Given the description of an element on the screen output the (x, y) to click on. 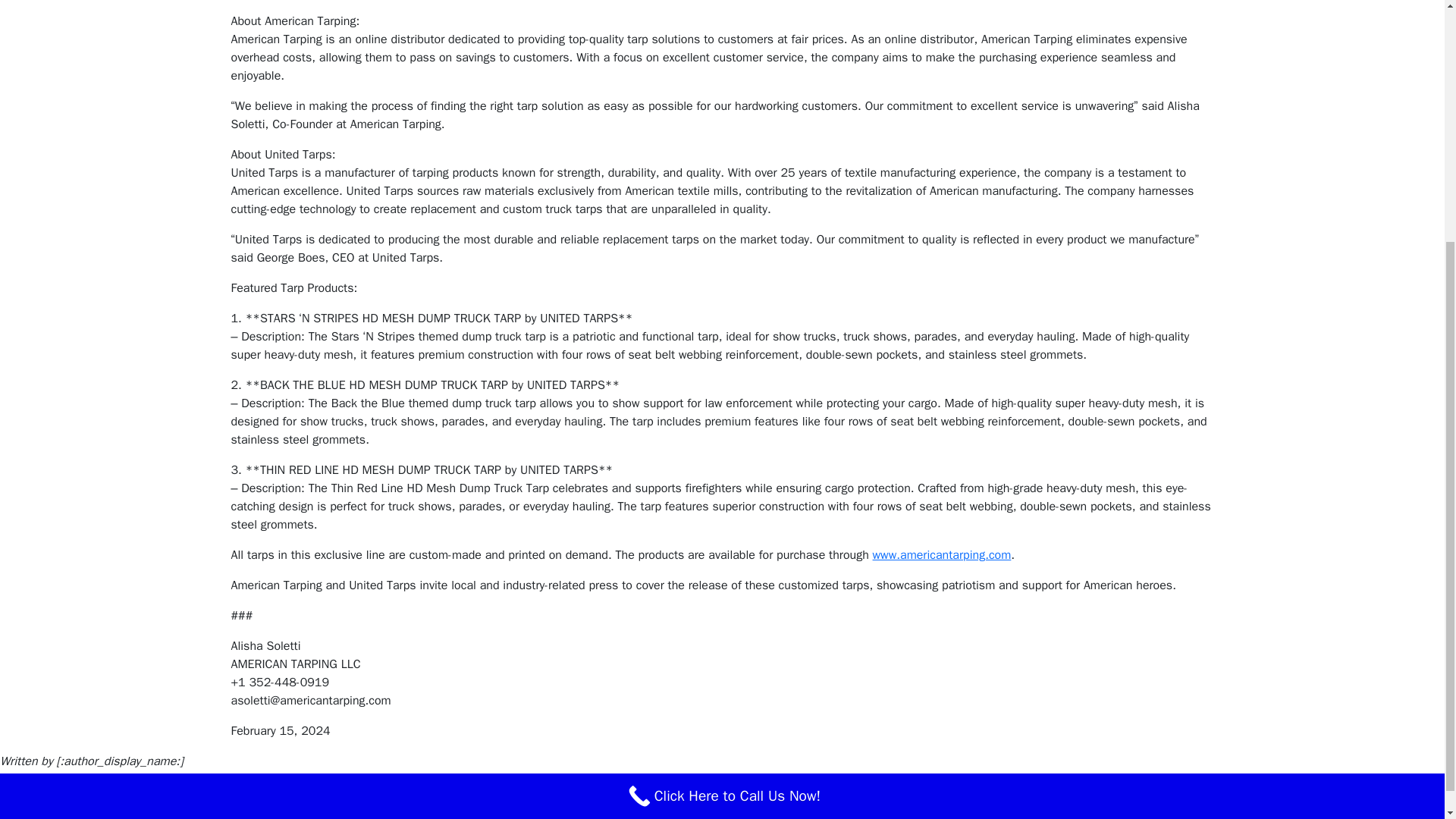
www.americantarping.com (941, 554)
